Given the description of an element on the screen output the (x, y) to click on. 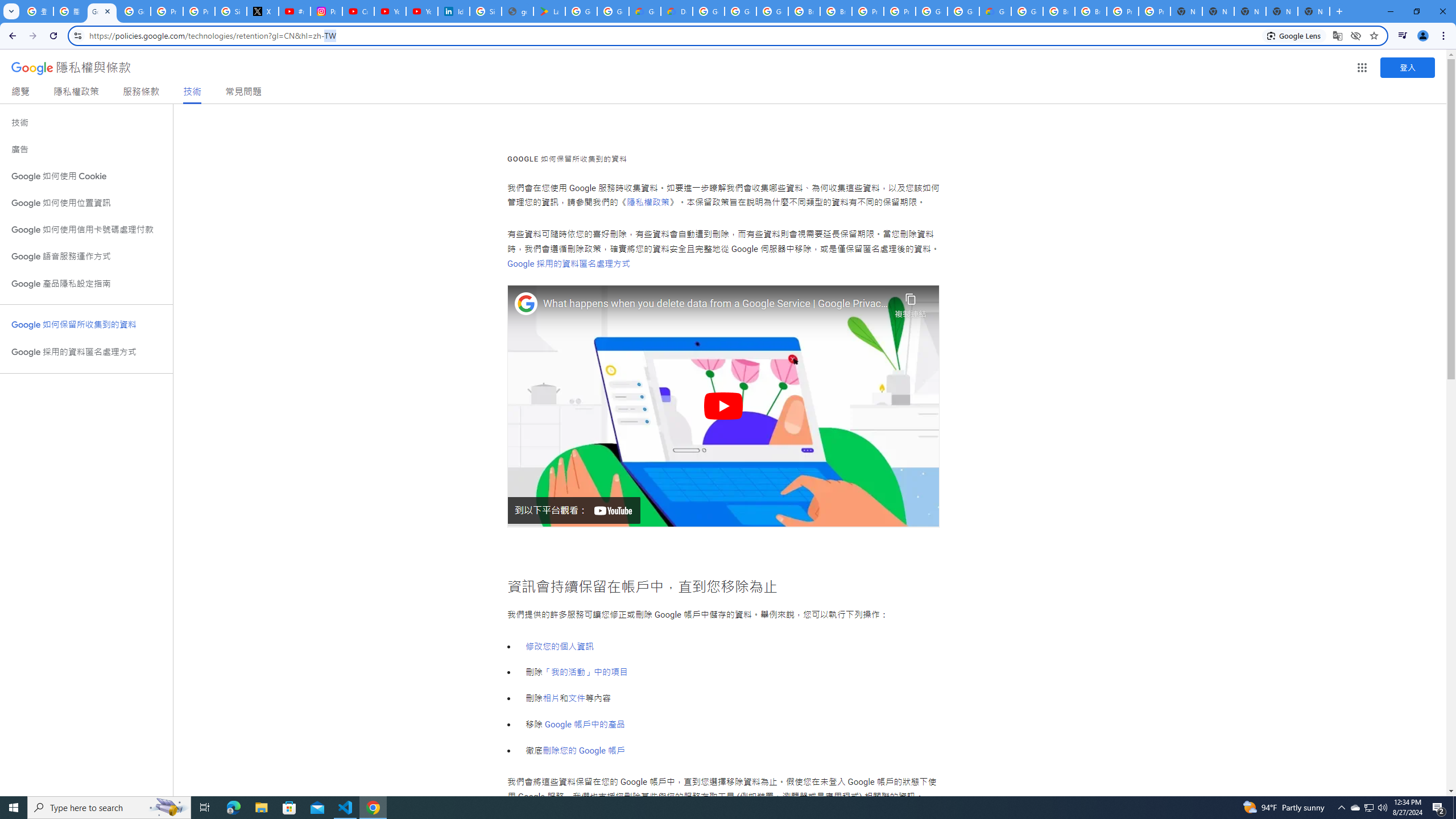
Translate this page (1336, 35)
Reload (52, 35)
Bookmark this tab (1373, 35)
Government | Google Cloud (644, 11)
Identity verification via Persona | LinkedIn Help (453, 11)
Browse Chrome as a guest - Computer - Google Chrome Help (1059, 11)
